Given the description of an element on the screen output the (x, y) to click on. 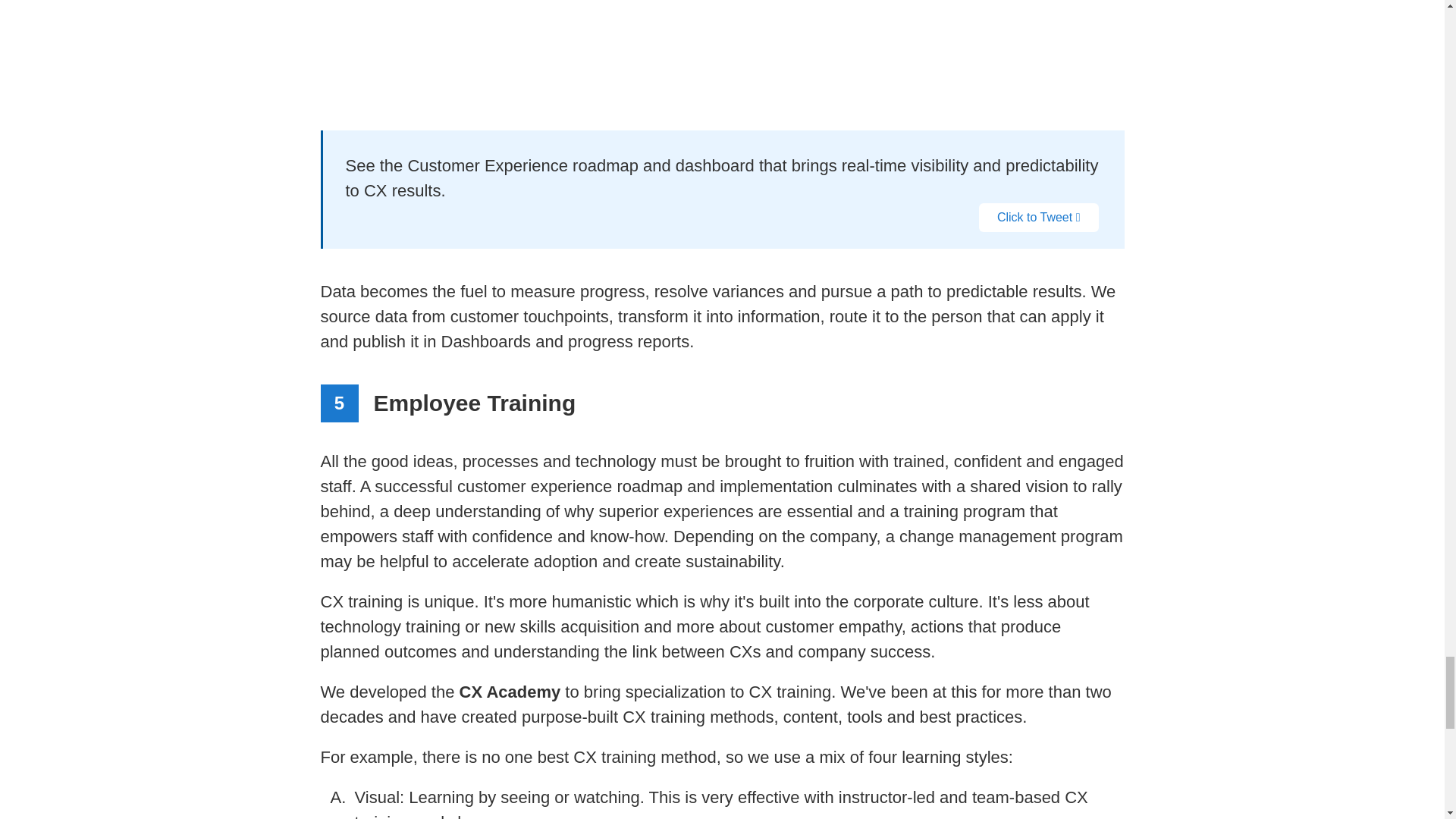
Customer Experience Dashboard - Johnny Grow (722, 46)
